Given the description of an element on the screen output the (x, y) to click on. 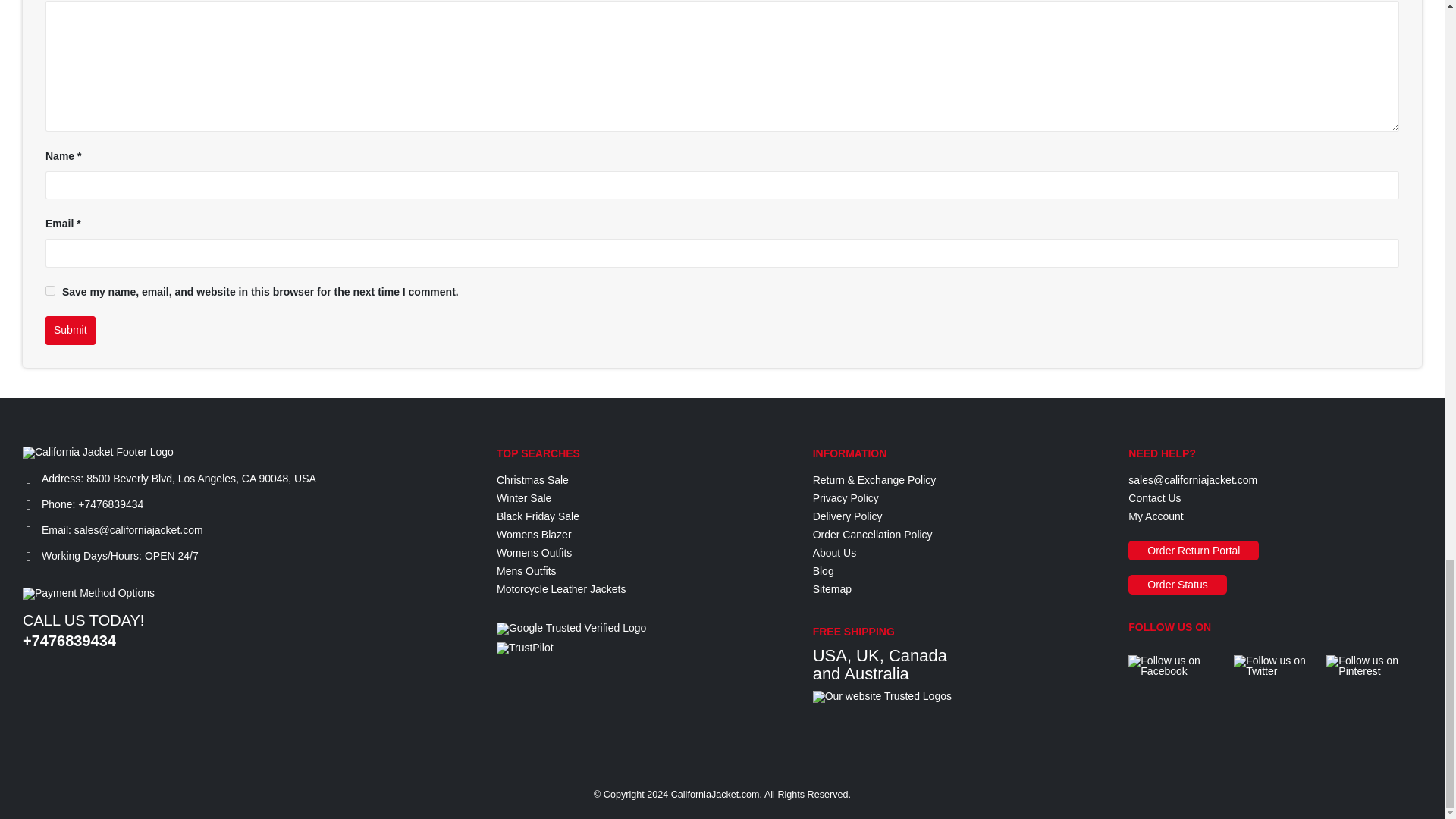
Womens Outfits (534, 552)
Black Friday Sale (537, 516)
Winter Sale (523, 498)
Black Friday Sale (537, 516)
yes (50, 290)
Submit (70, 330)
Womens Blazer (534, 534)
Submit (70, 330)
Christmas Sale Collection (532, 480)
Winter Sale (523, 498)
